Given the description of an element on the screen output the (x, y) to click on. 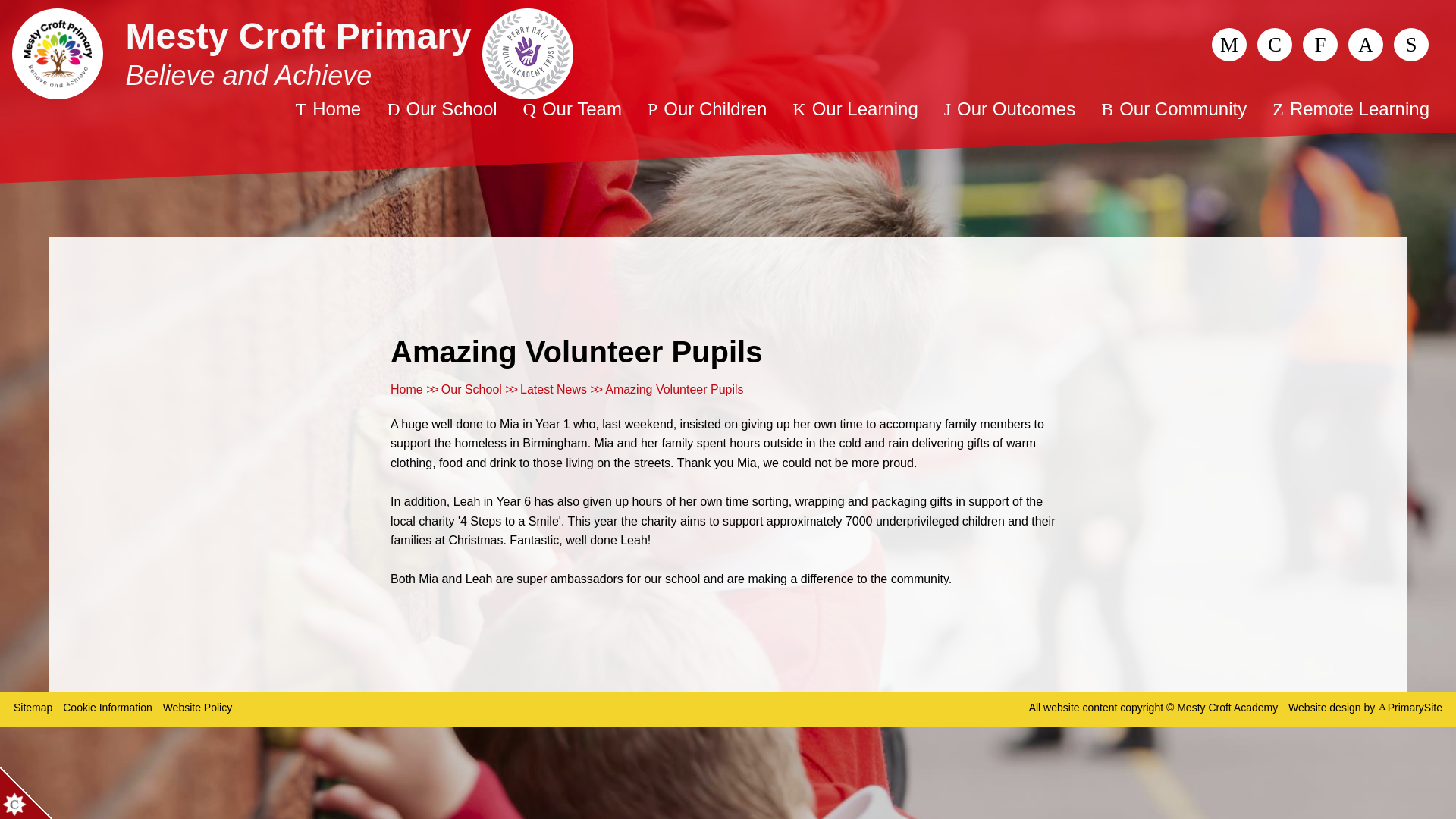
Home (328, 108)
Our School (441, 108)
Log in (1410, 44)
Our Team (572, 108)
Home Page (57, 53)
CEOP (1228, 44)
